Given the description of an element on the screen output the (x, y) to click on. 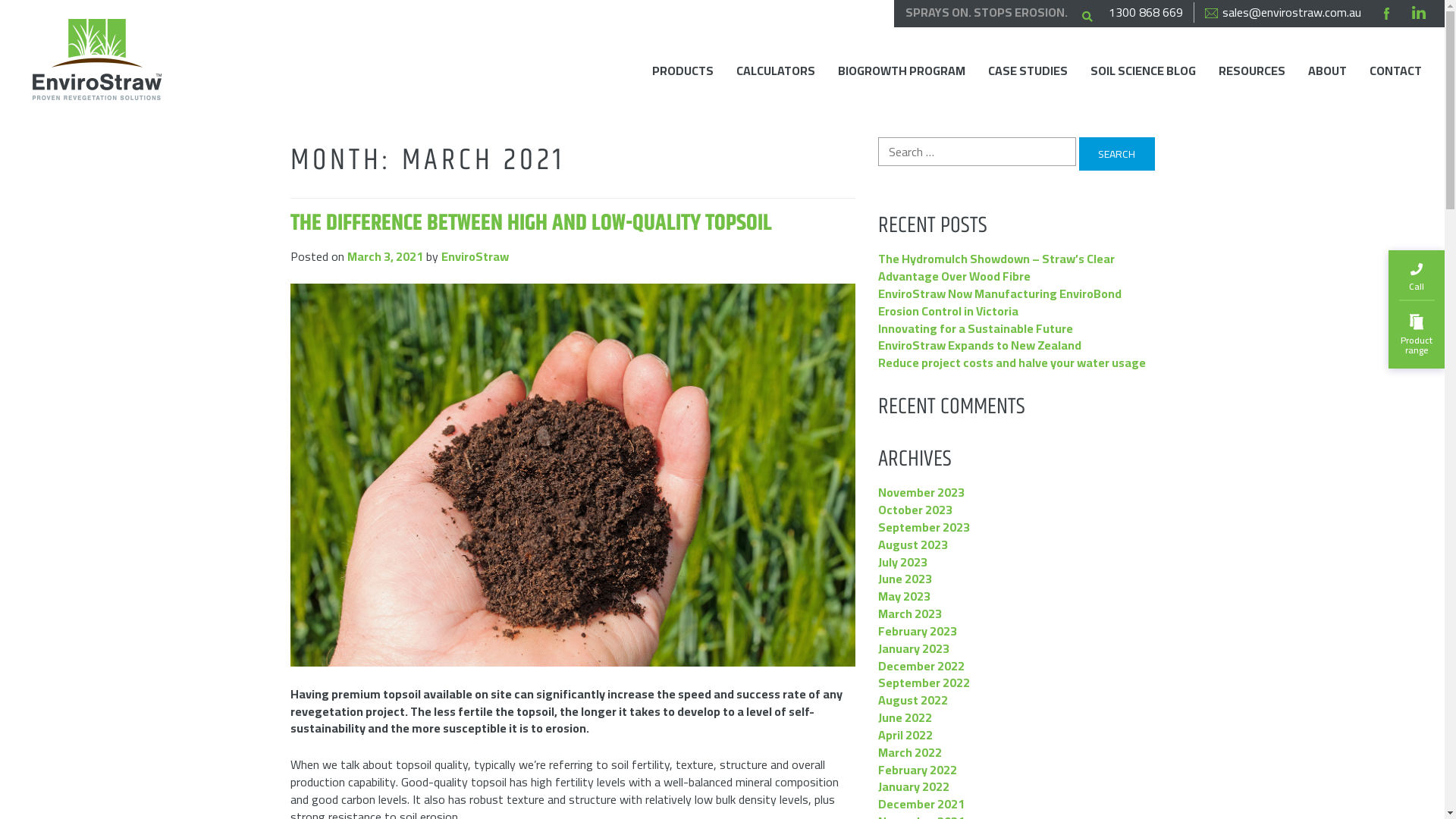
ABOUT Element type: text (1327, 70)
March 3, 2021 Element type: text (385, 256)
sales@envirostraw.com.au Element type: text (1282, 12)
CASE STUDIES Element type: text (1027, 70)
July 2023 Element type: text (902, 562)
March 2023 Element type: text (909, 613)
March 2022 Element type: text (909, 752)
Product
range Element type: text (1416, 334)
BIOGROWTH PROGRAM Element type: text (901, 70)
Innovating for a Sustainable Future Element type: text (975, 328)
CALCULATORS Element type: text (775, 70)
May 2023 Element type: text (904, 596)
EnviroStraw Expands to New Zealand Element type: text (979, 345)
February 2022 Element type: text (917, 769)
October 2023 Element type: text (915, 509)
January 2023 Element type: text (913, 648)
September 2023 Element type: text (923, 527)
CONTACT Element type: text (1395, 70)
December 2021 Element type: text (921, 803)
April 2022 Element type: text (905, 734)
August 2023 Element type: text (912, 544)
Search Element type: text (1116, 153)
June 2023 Element type: text (904, 578)
PRODUCTS Element type: text (682, 70)
January 2022 Element type: text (913, 786)
EnviroStraw Element type: text (474, 256)
SOIL SCIENCE BLOG Element type: text (1142, 70)
September 2022 Element type: text (923, 682)
Reduce project costs and halve your water usage Element type: text (1011, 362)
THE DIFFERENCE BETWEEN HIGH AND LOW-QUALITY TOPSOIL Element type: text (530, 223)
1300 868 669 Element type: text (1145, 12)
RESOURCES Element type: text (1251, 70)
August 2022 Element type: text (912, 700)
EnviroStraw Element type: hover (96, 59)
Call Element type: text (1416, 274)
December 2022 Element type: text (921, 665)
February 2023 Element type: text (917, 631)
November 2023 Element type: text (921, 492)
June 2022 Element type: text (904, 717)
